Given the description of an element on the screen output the (x, y) to click on. 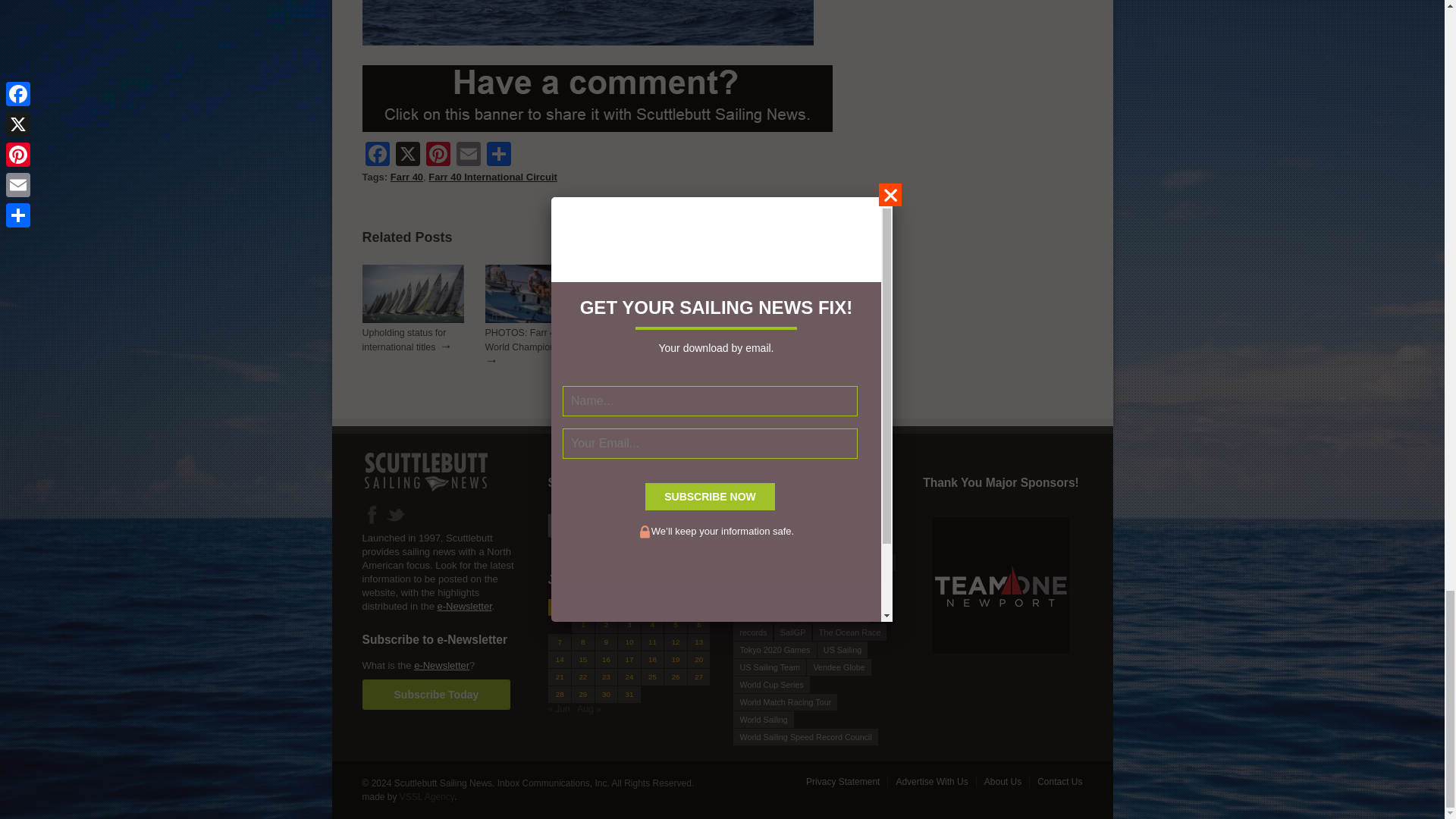
Email (467, 155)
Pinterest (437, 155)
PHOTOS: Farr 40 World Championship (535, 319)
Farr 40 International Circuit (492, 176)
X (408, 155)
Upholding status for international titles (413, 319)
Pinterest (437, 155)
Freides and Brun claim Farr 40 Worlds (656, 339)
PHOTOS: Farr 40 World Championship (528, 339)
Facebook (377, 155)
VIDEO: Blood, sweat, and tears (781, 319)
X (408, 155)
Email (467, 155)
Facebook (377, 155)
Freides and Brun claim Farr 40 Worlds (659, 319)
